Given the description of an element on the screen output the (x, y) to click on. 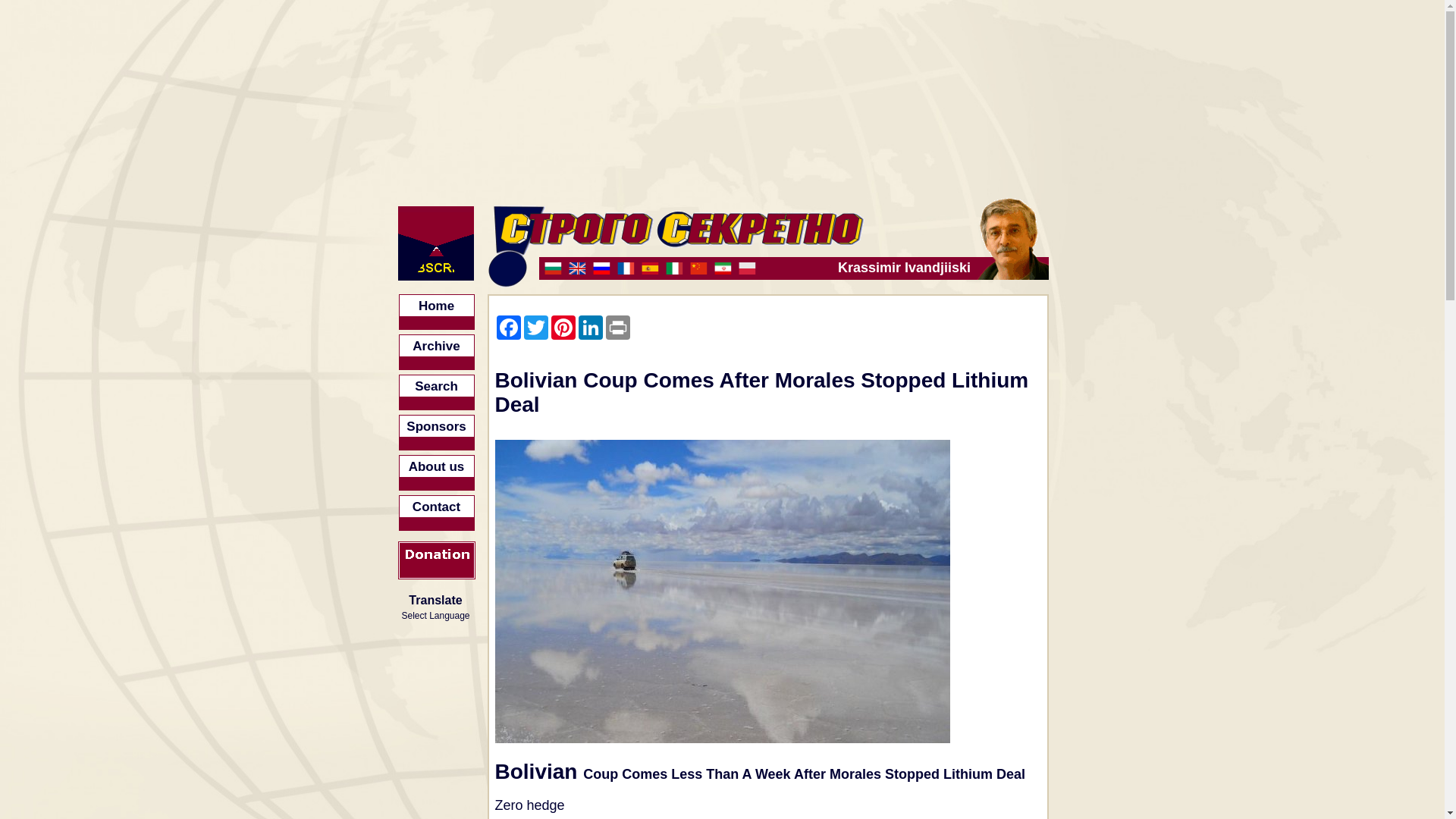
Twitter (534, 327)
Sponsors (436, 432)
Facebook (508, 327)
Krassimir Ivandjiiski (756, 268)
LinkedIn (590, 327)
Home (436, 312)
Contact (436, 512)
Pinterest (562, 327)
About us (436, 472)
Archive (436, 352)
Advertisement (1174, 745)
Search (436, 392)
